Given the description of an element on the screen output the (x, y) to click on. 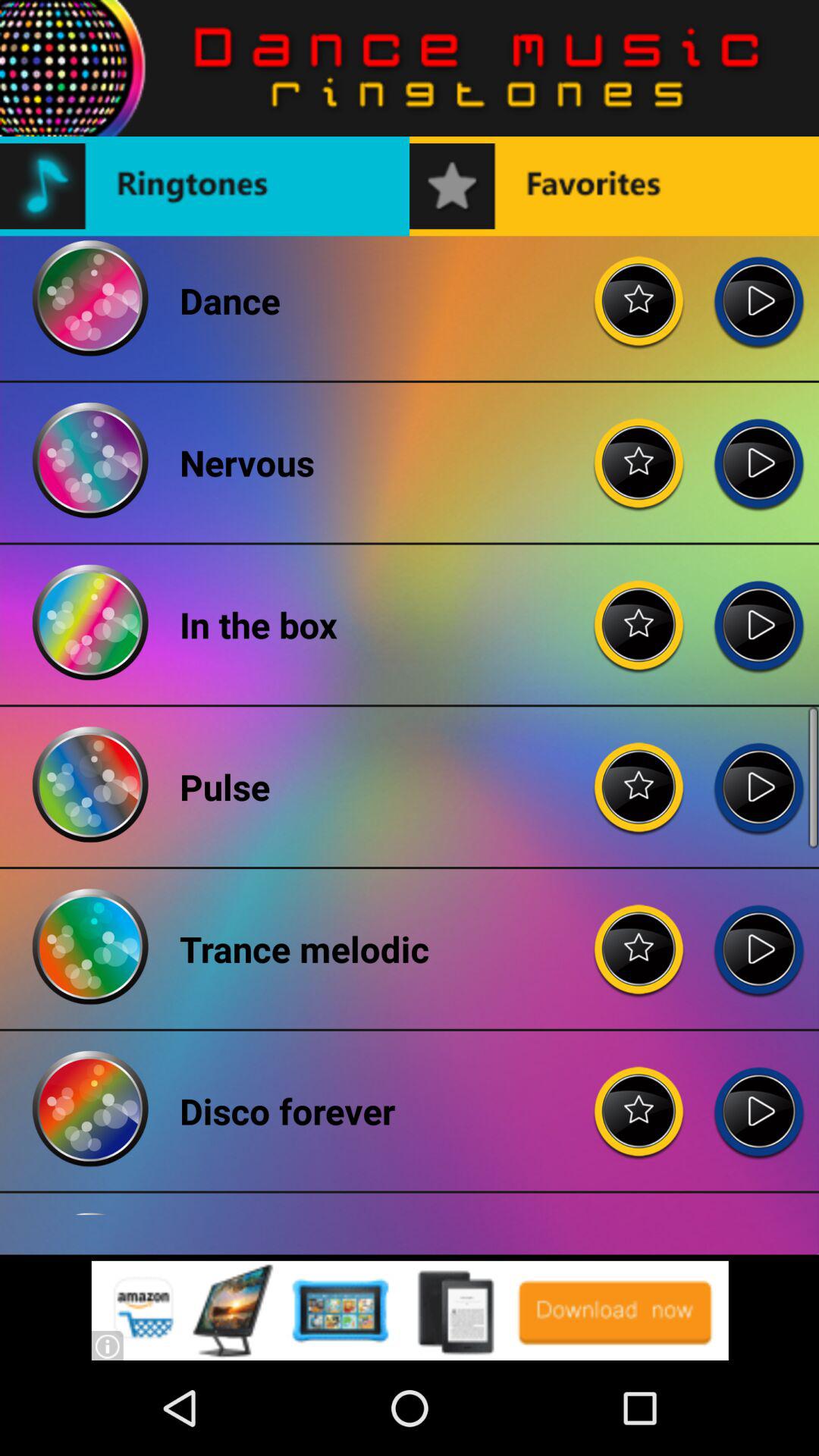
play nervous ringtone (758, 451)
